Given the description of an element on the screen output the (x, y) to click on. 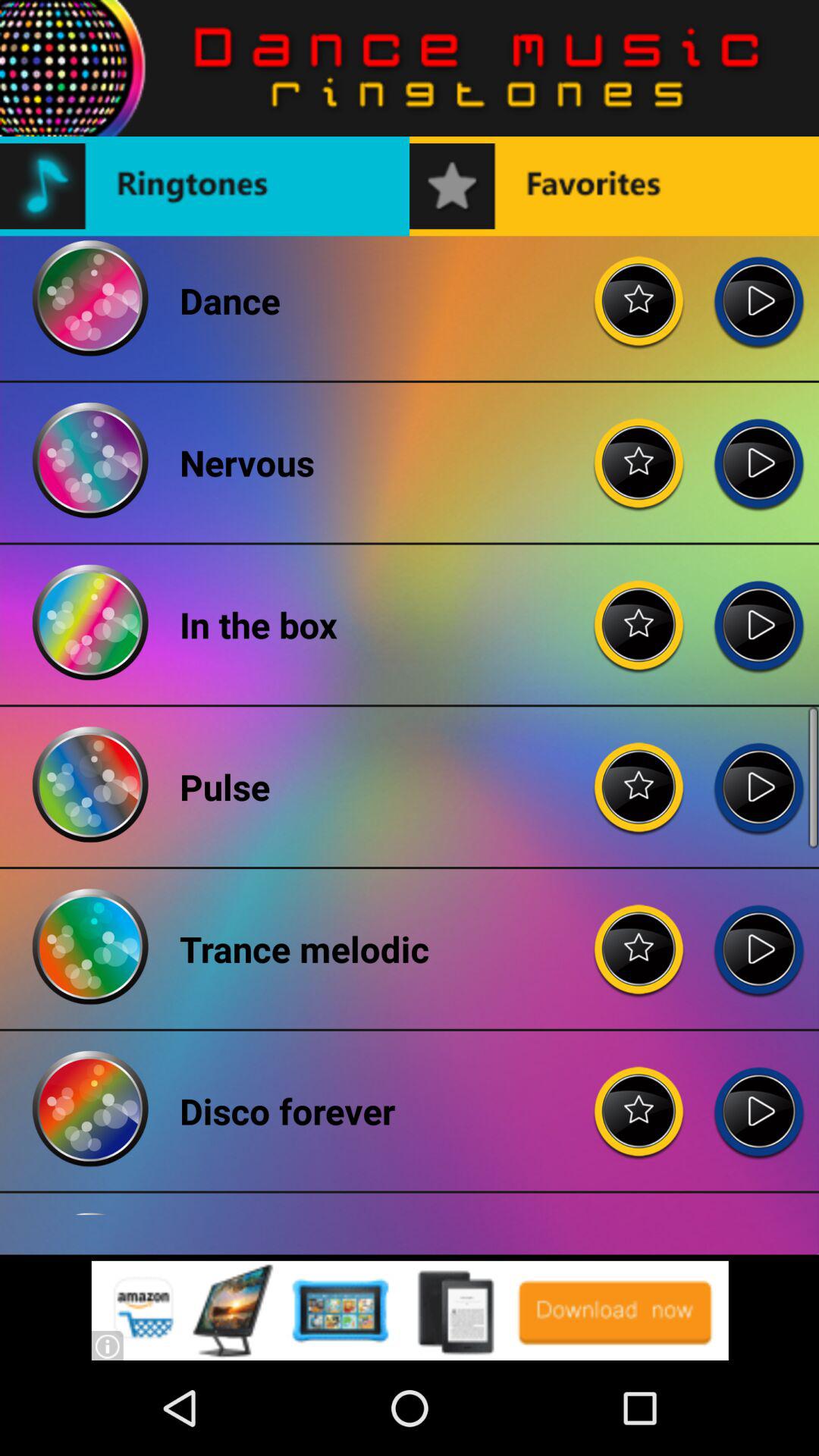
play nervous ringtone (758, 451)
